Given the description of an element on the screen output the (x, y) to click on. 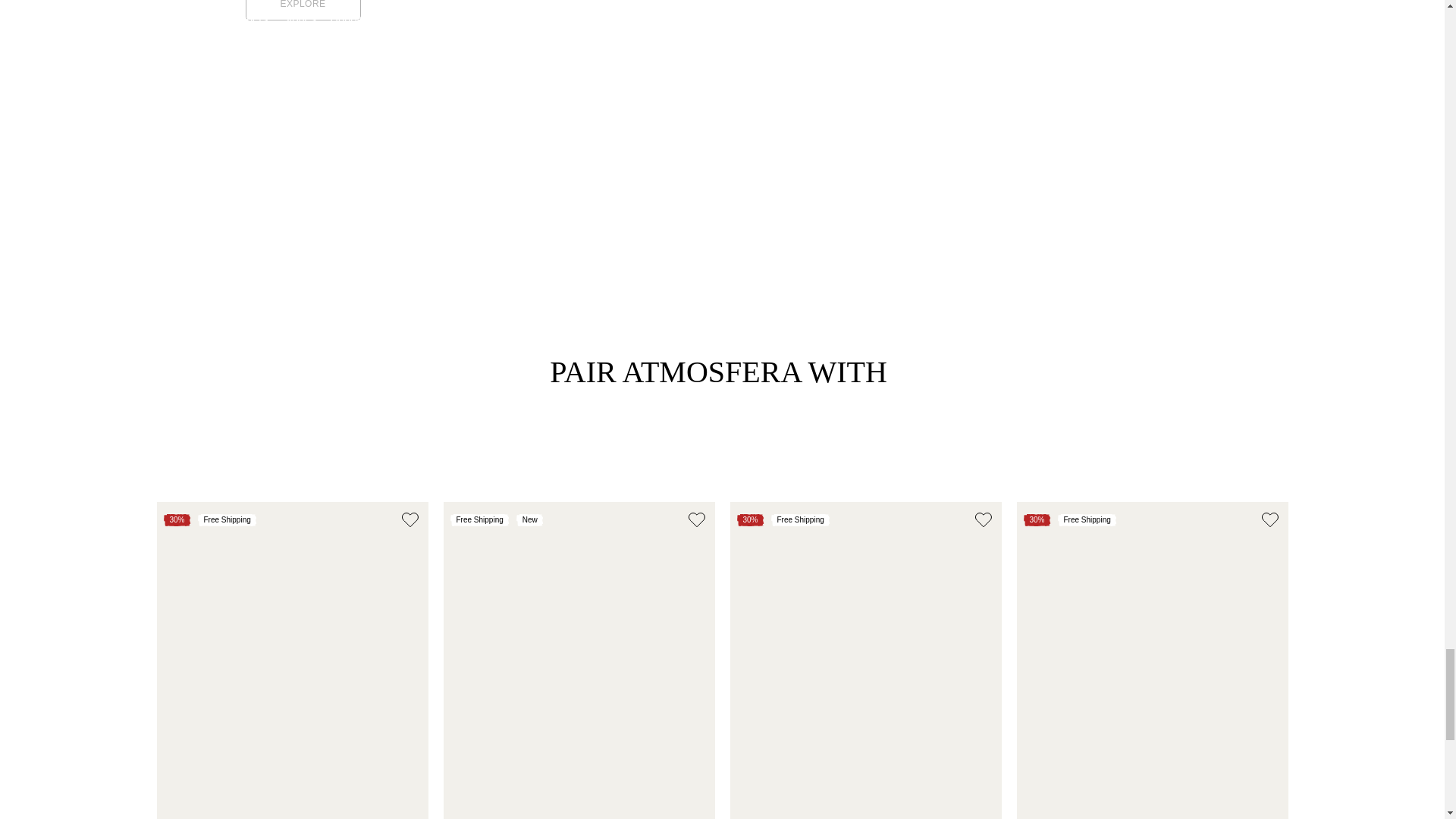
Add to wish list (409, 520)
Add to wish list (982, 520)
Add to wish list (1268, 520)
Add to wish list (696, 520)
